Given the description of an element on the screen output the (x, y) to click on. 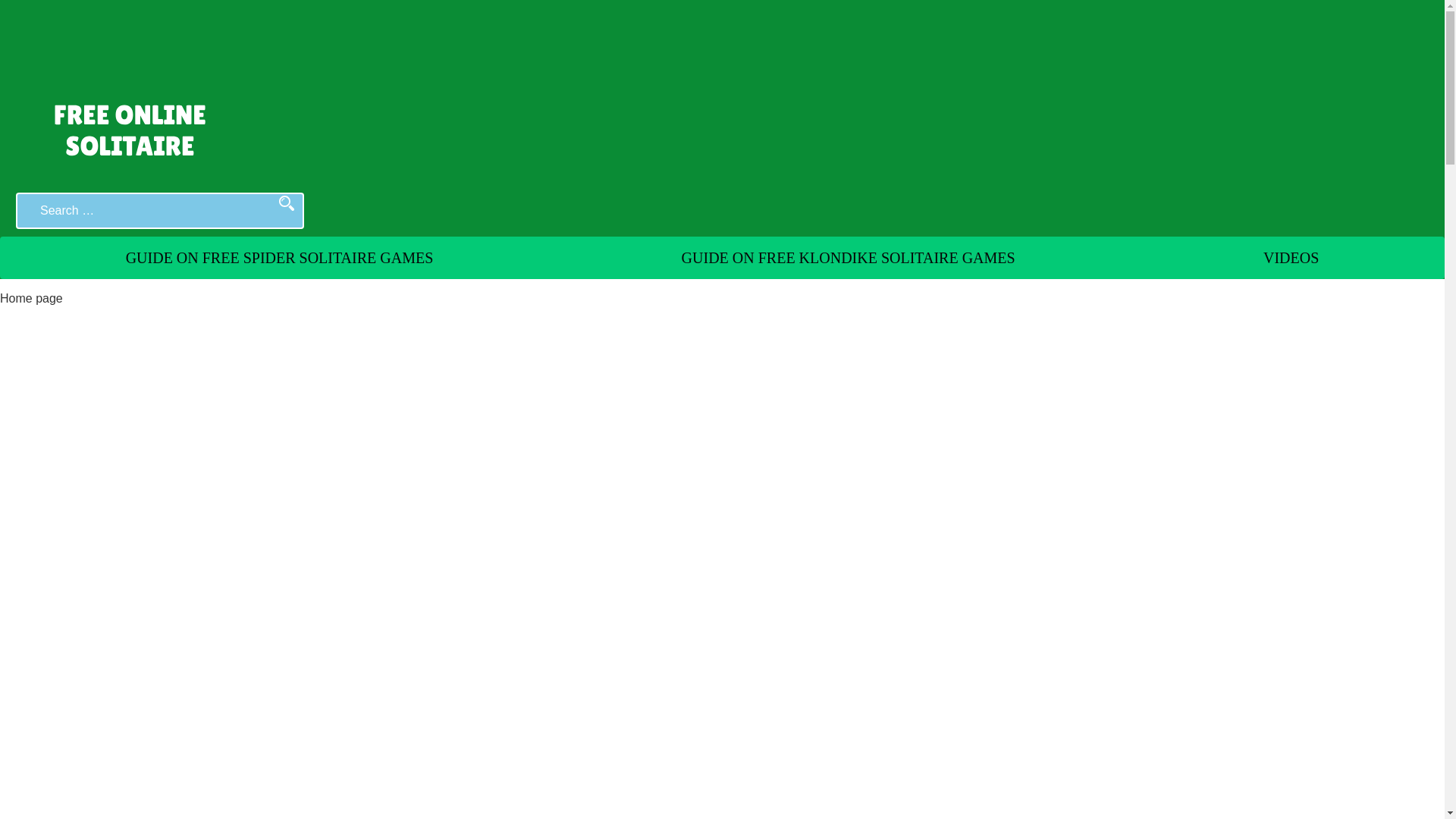
Home page (31, 297)
GUIDE ON FREE KLONDIKE SOLITAIRE GAMES (847, 257)
VIDEOS (1291, 257)
GUIDE ON FREE SPIDER SOLITAIRE GAMES (280, 257)
